Given the description of an element on the screen output the (x, y) to click on. 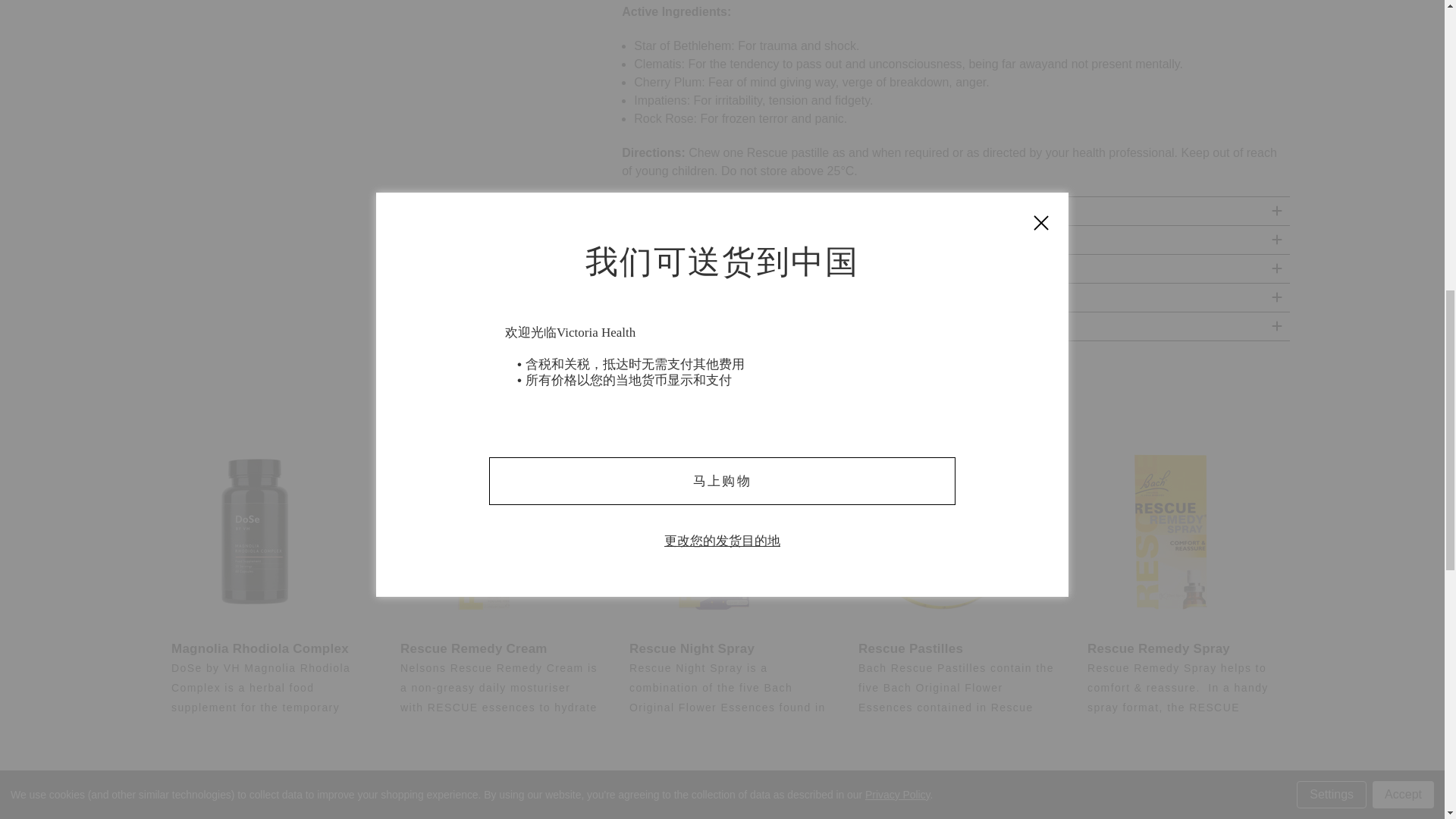
Bach Flower Remedies Rescue Night  Spray - 20-ml front image (712, 531)
